Given the description of an element on the screen output the (x, y) to click on. 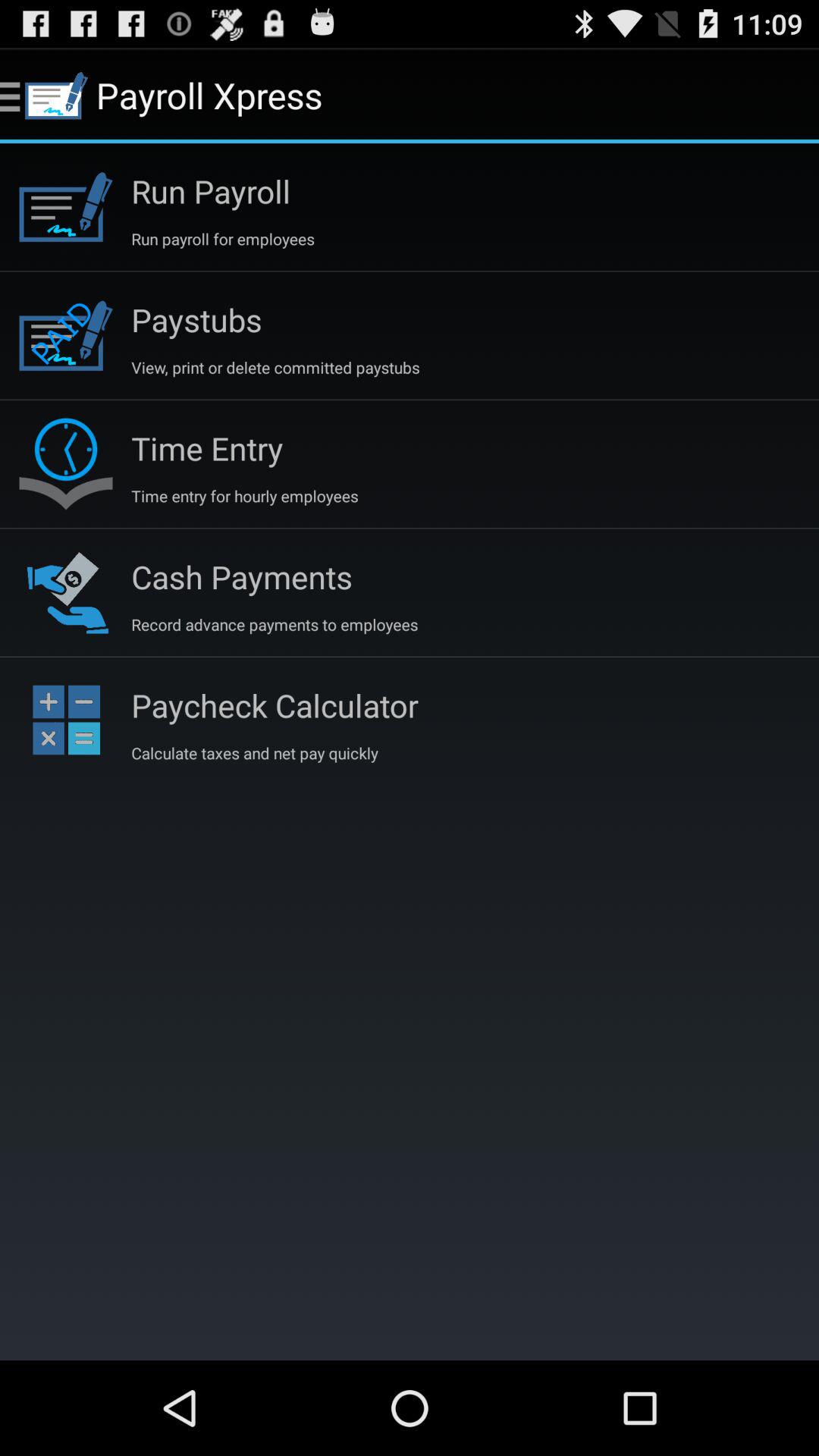
scroll to the cash payments item (241, 576)
